Given the description of an element on the screen output the (x, y) to click on. 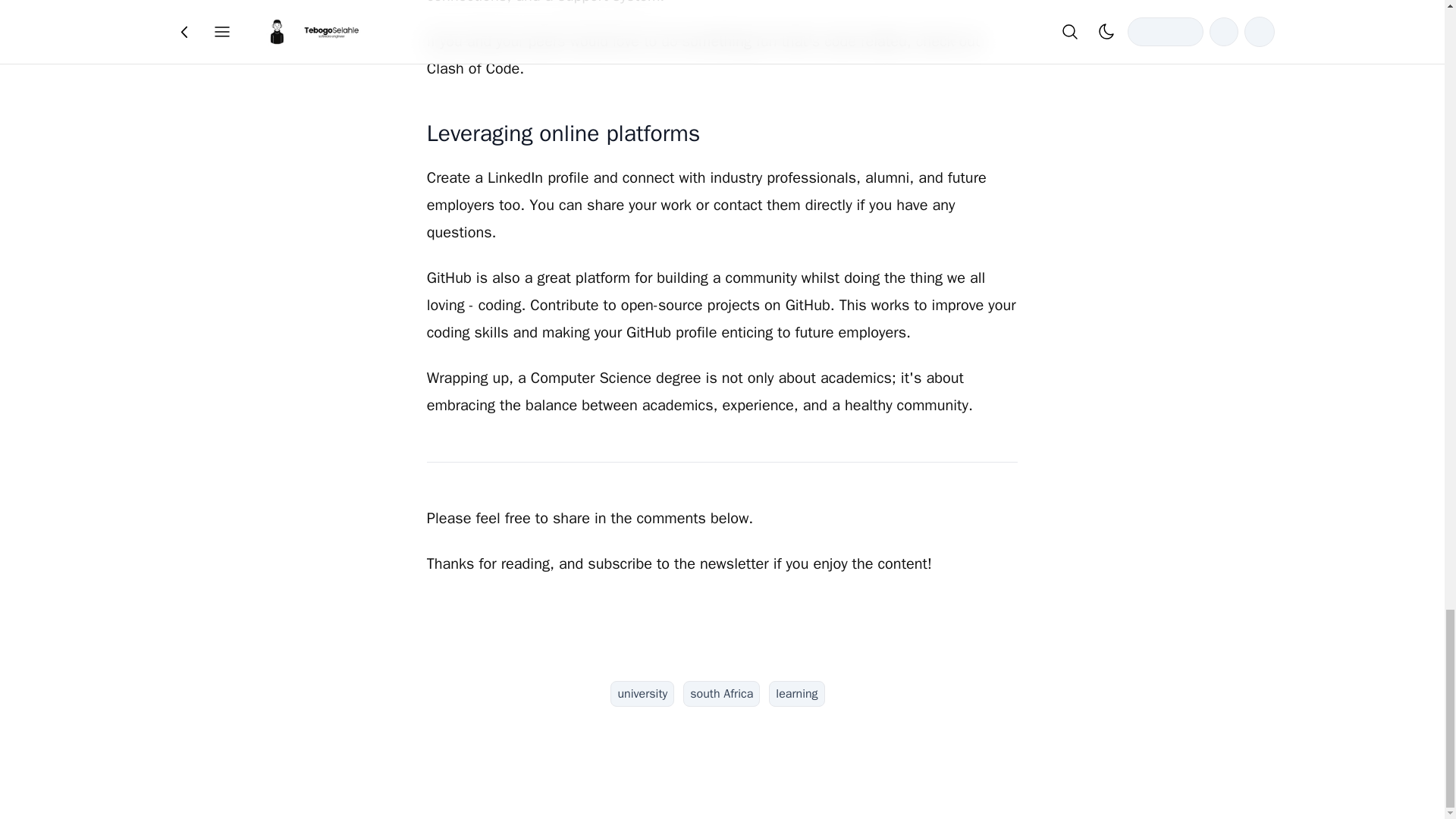
learning (796, 693)
south Africa (721, 693)
university (642, 693)
